Given the description of an element on the screen output the (x, y) to click on. 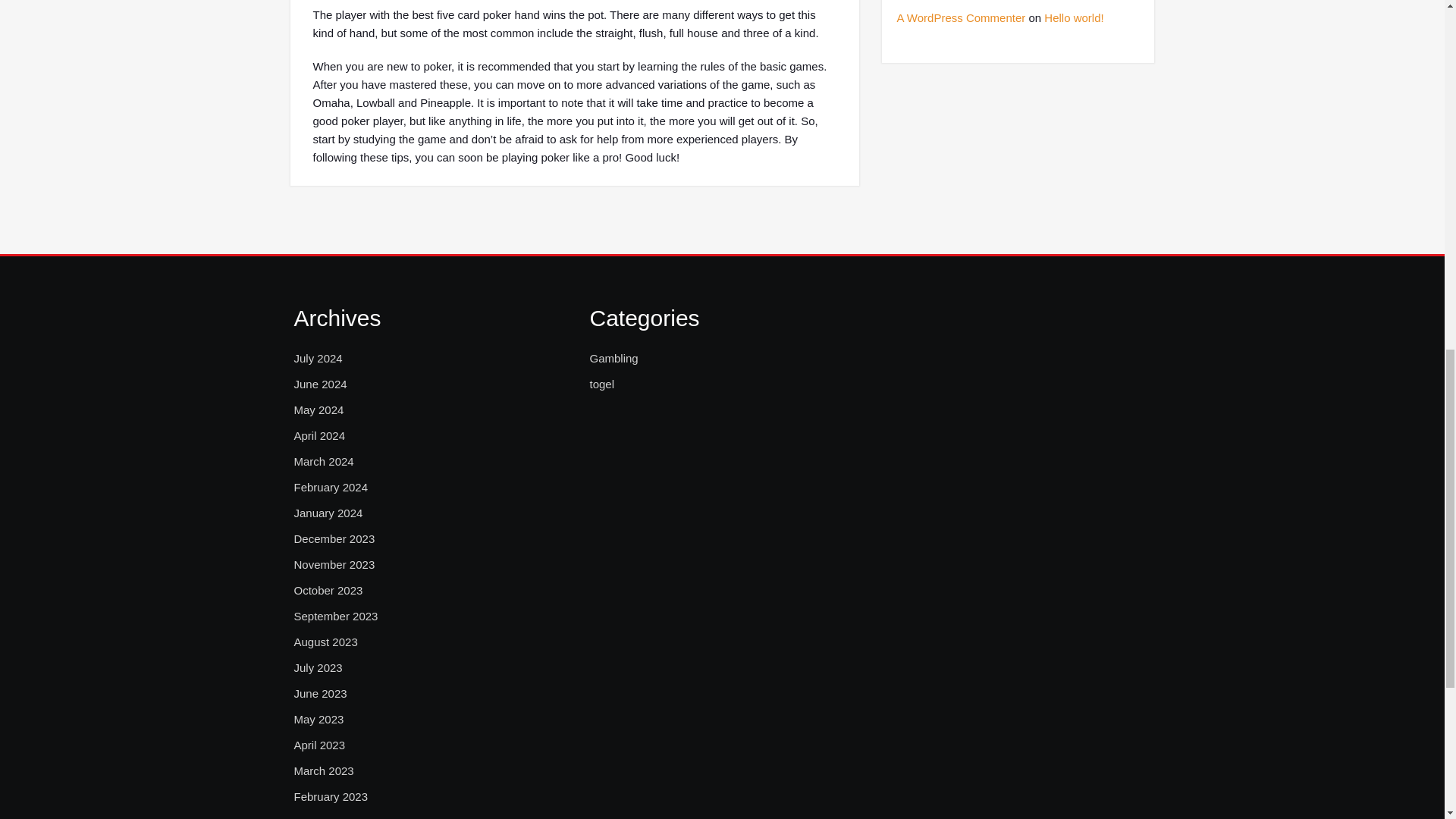
September 2023 (336, 616)
Hello world! (1073, 17)
July 2024 (318, 358)
April 2023 (320, 745)
February 2023 (331, 796)
August 2023 (326, 642)
June 2023 (320, 693)
June 2024 (320, 384)
May 2024 (318, 410)
November 2023 (334, 565)
October 2023 (328, 590)
July 2023 (318, 668)
A WordPress Commenter (960, 17)
March 2024 (323, 461)
January 2024 (328, 513)
